Given the description of an element on the screen output the (x, y) to click on. 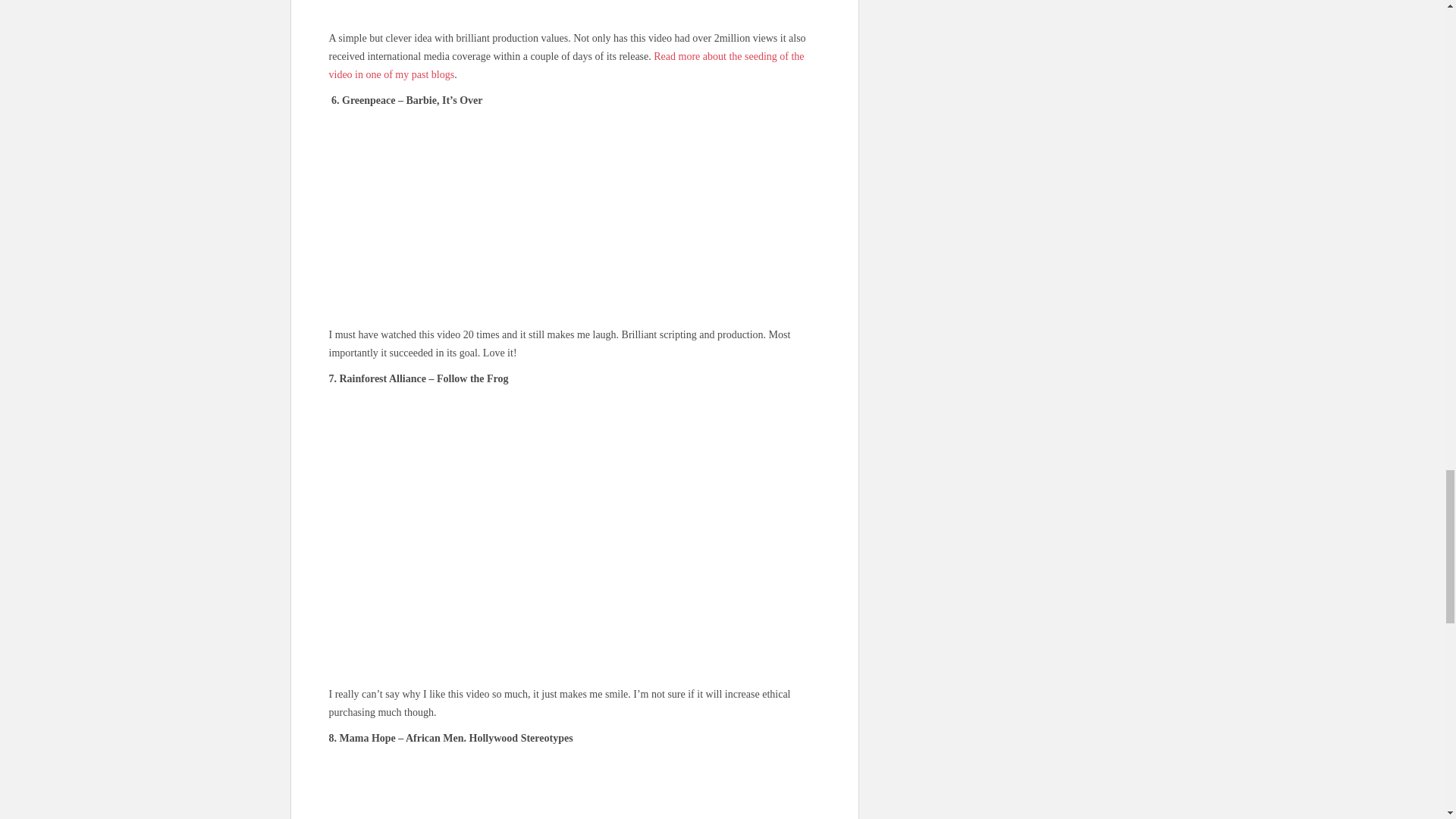
Africa For Norway - New charity single out now! (575, 8)
